Given the description of an element on the screen output the (x, y) to click on. 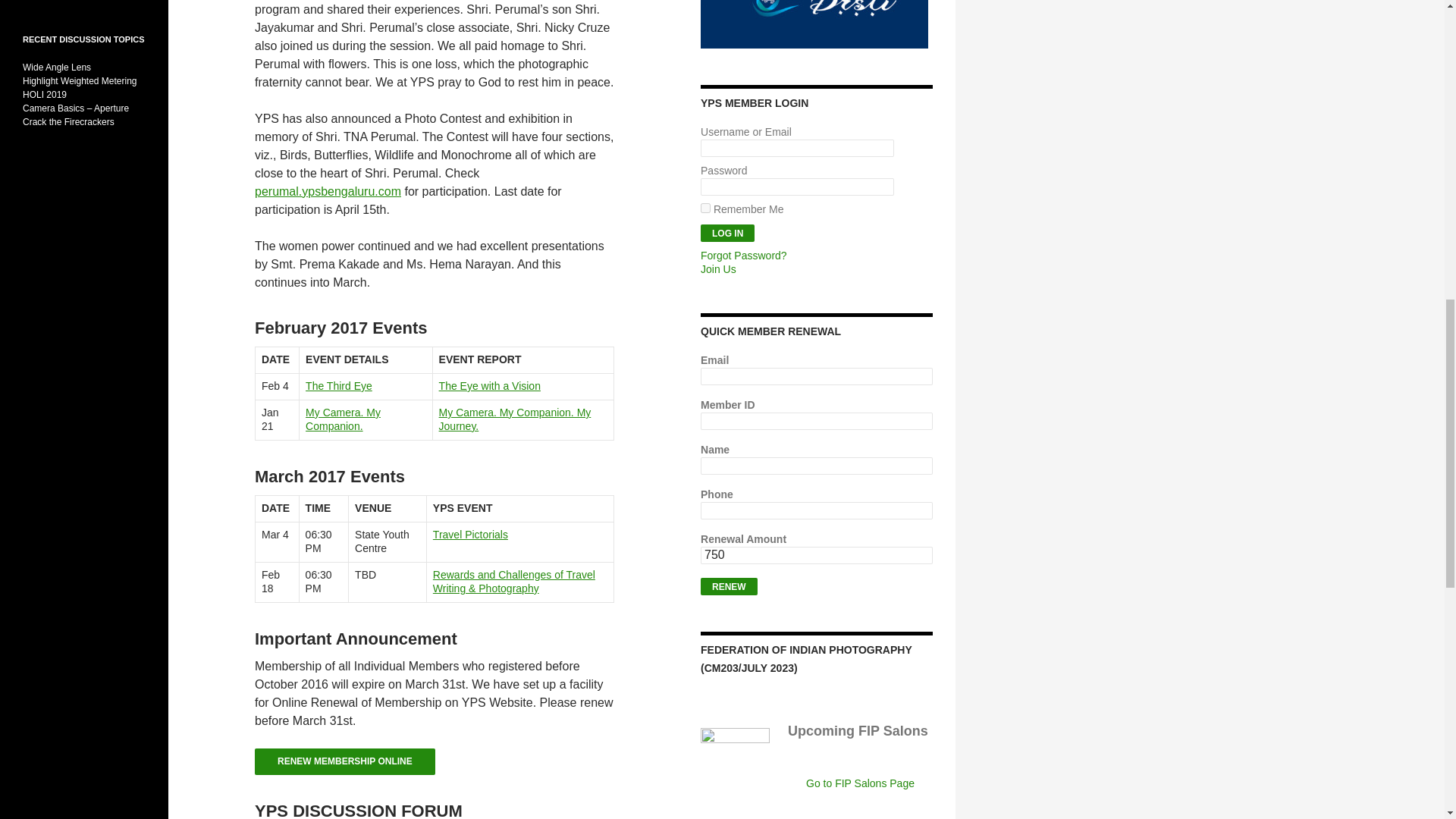
The Eye with a Vision (489, 386)
Log In (727, 232)
My Camera. My Companion. My Journey. (515, 419)
RENEW MEMBERSHIP ONLINE (344, 765)
750 (816, 555)
Forgot Password? (743, 255)
perumal.ypsbengaluru.com (327, 191)
RENEW MEMBERSHIP ONLINE (344, 761)
My Camera. My Companion. (342, 419)
Travel Pictorials (470, 534)
